Given the description of an element on the screen output the (x, y) to click on. 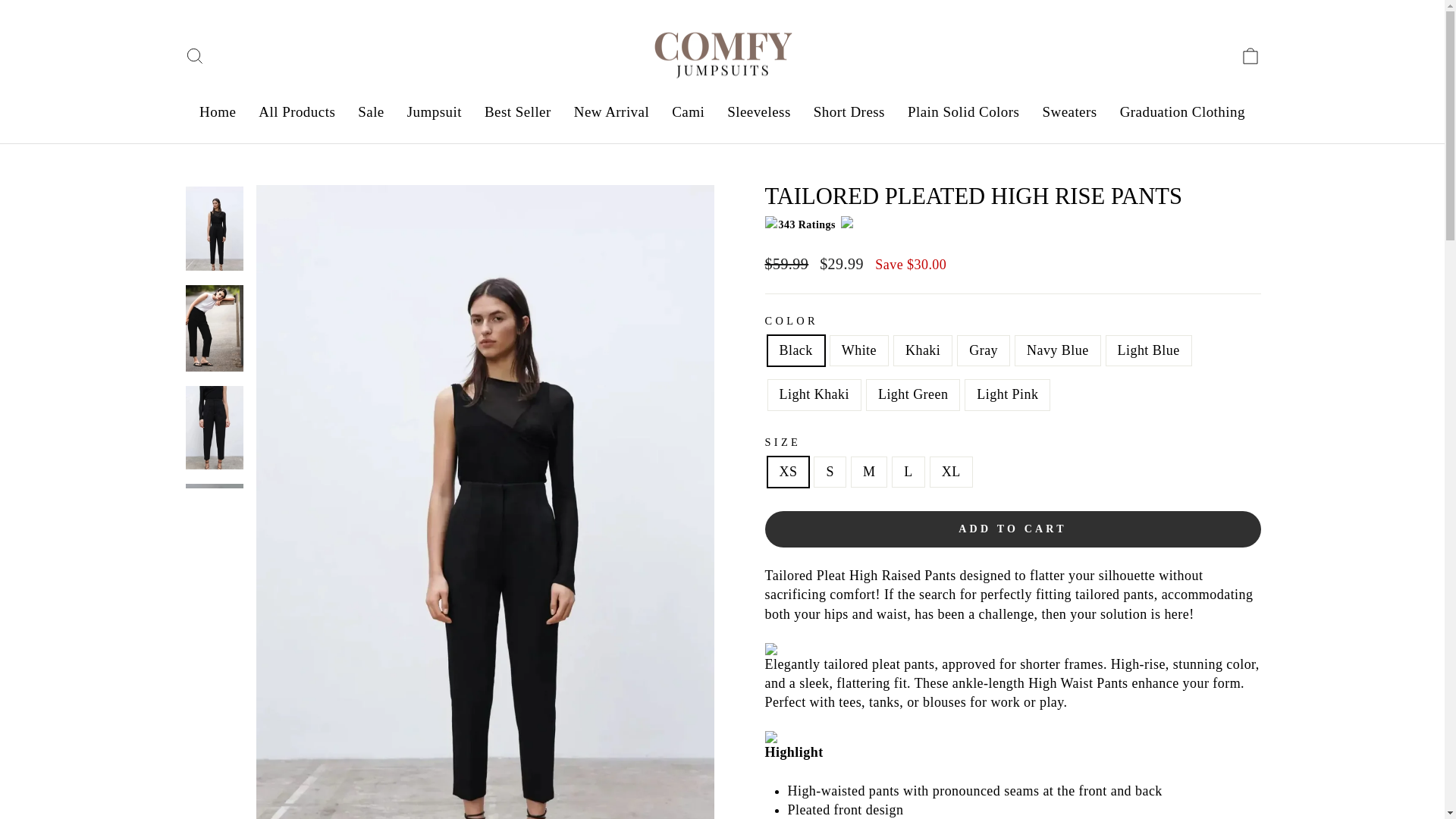
All Products (296, 112)
icon-search (194, 55)
icon-bag-minimal (1249, 55)
New Arrival (611, 112)
Plain Solid Colors (963, 112)
Sleeveless (759, 112)
